Given the description of an element on the screen output the (x, y) to click on. 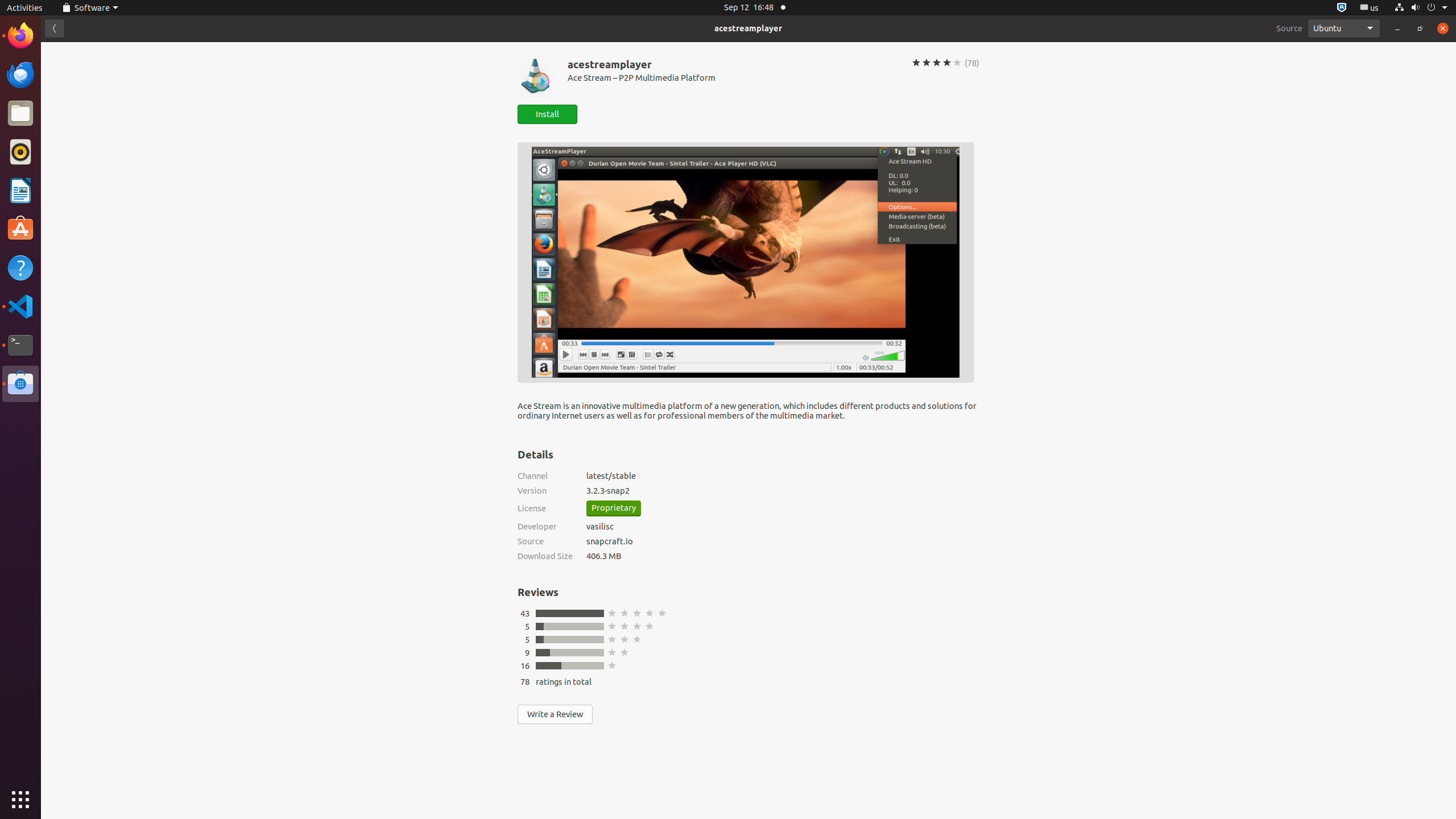
Activities Element type: label (24, 7)
snapcraft.io Element type: label (782, 541)
Software Element type: push-button (20, 383)
406.3 MB Element type: label (782, 555)
